Given the description of an element on the screen output the (x, y) to click on. 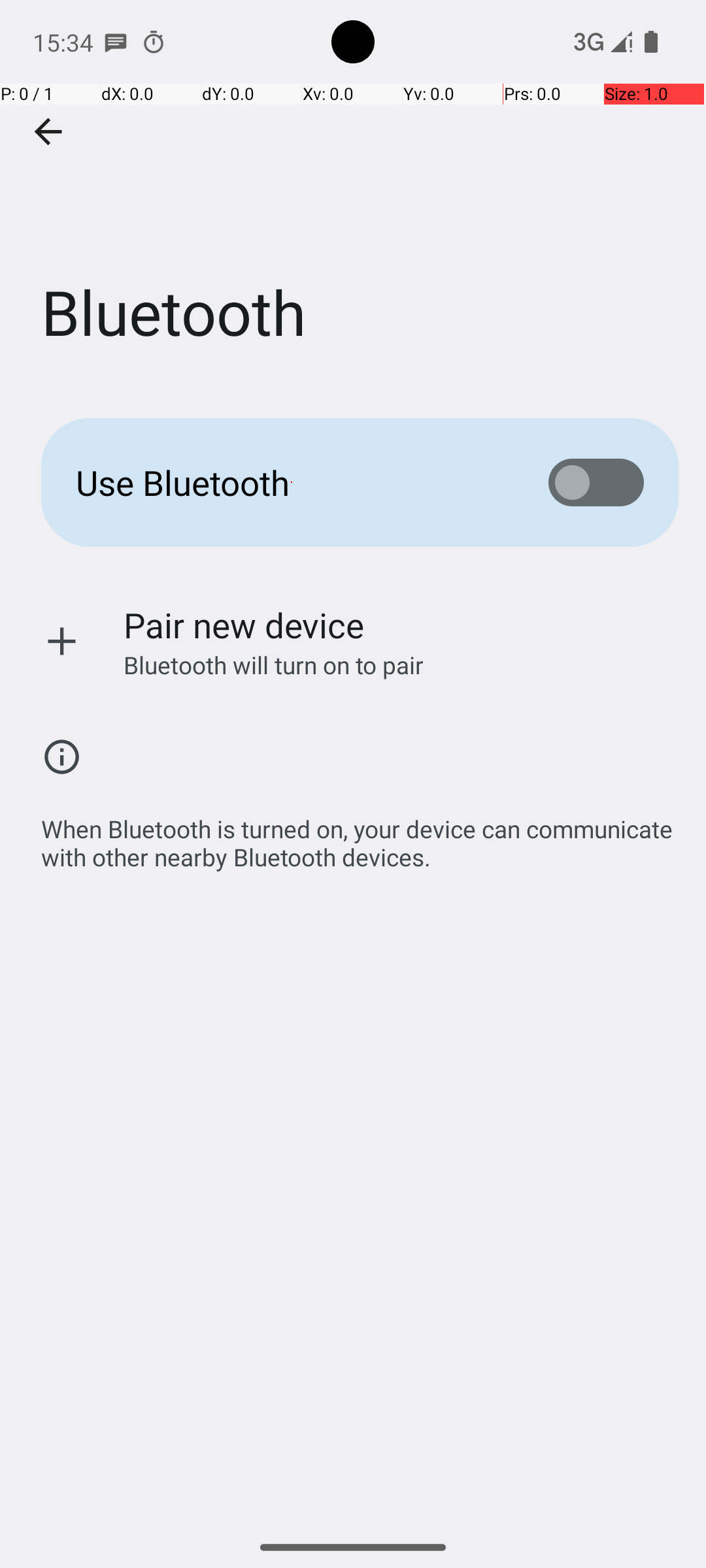
Bluetooth Element type: android.widget.FrameLayout (353, 195)
Use Bluetooth Element type: android.widget.TextView (291, 482)
Bluetooth will turn on to pair Element type: android.widget.TextView (273, 776)
When Bluetooth is turned on, your device can communicate with other nearby Bluetooth devices. Element type: android.widget.TextView (359, 877)
